Given the description of an element on the screen output the (x, y) to click on. 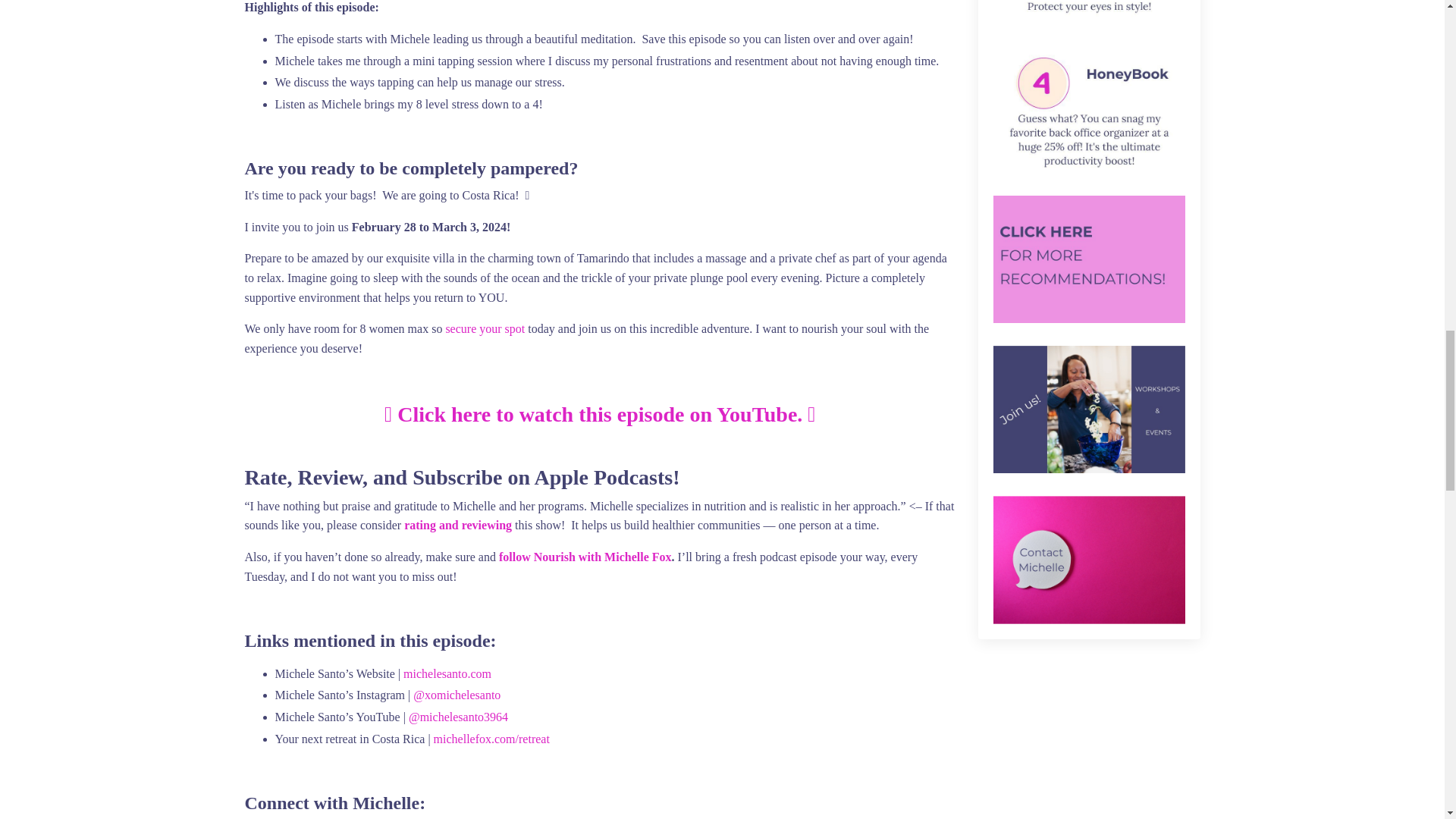
Click here to watch this episode on YouTube (596, 413)
follow Nourish with Michelle Fox (585, 556)
secure your spot (484, 328)
rating and reviewing (458, 524)
michelesanto.com (447, 673)
